Given the description of an element on the screen output the (x, y) to click on. 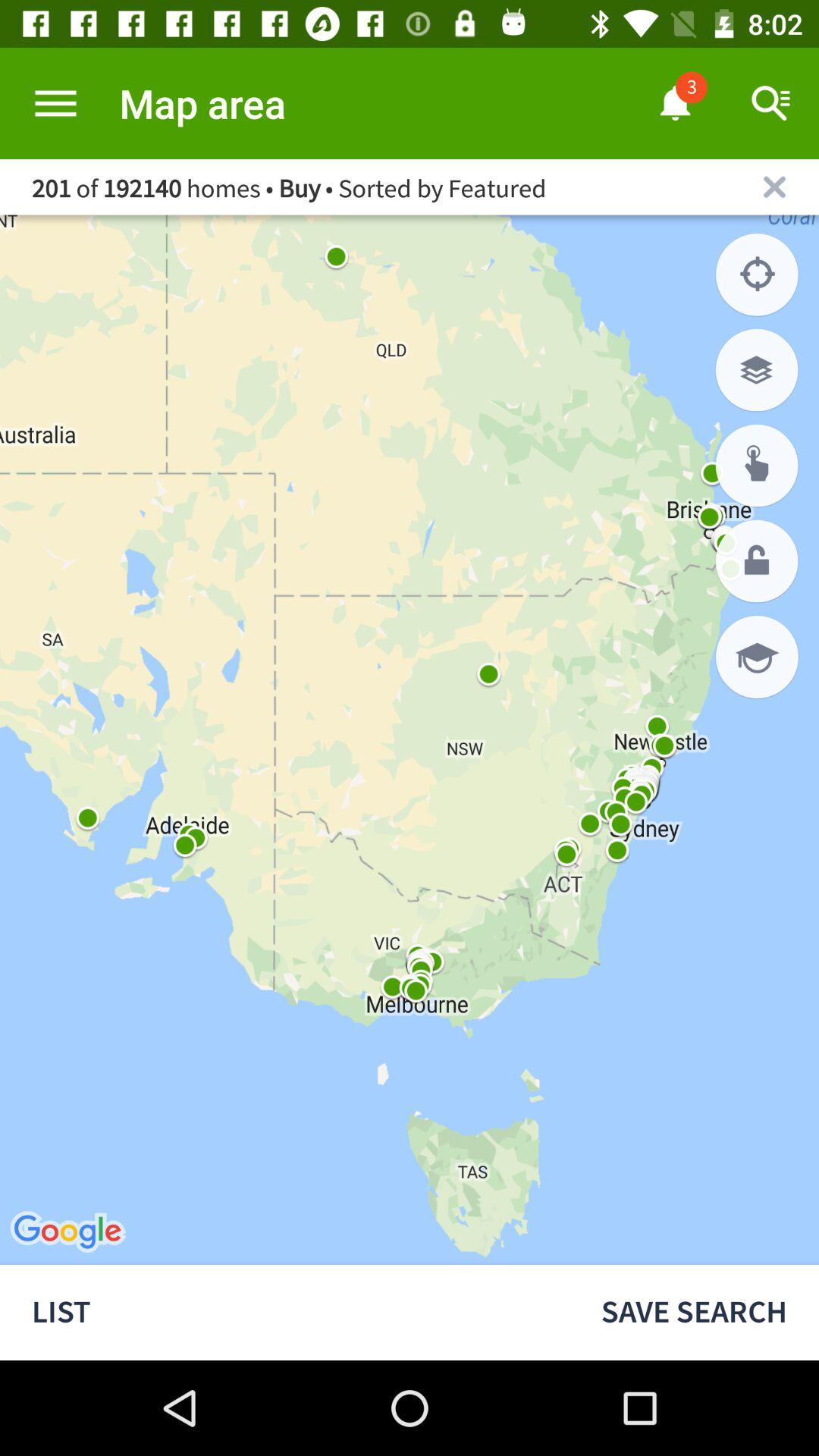
choose the icon next to map area icon (55, 103)
